Given the description of an element on the screen output the (x, y) to click on. 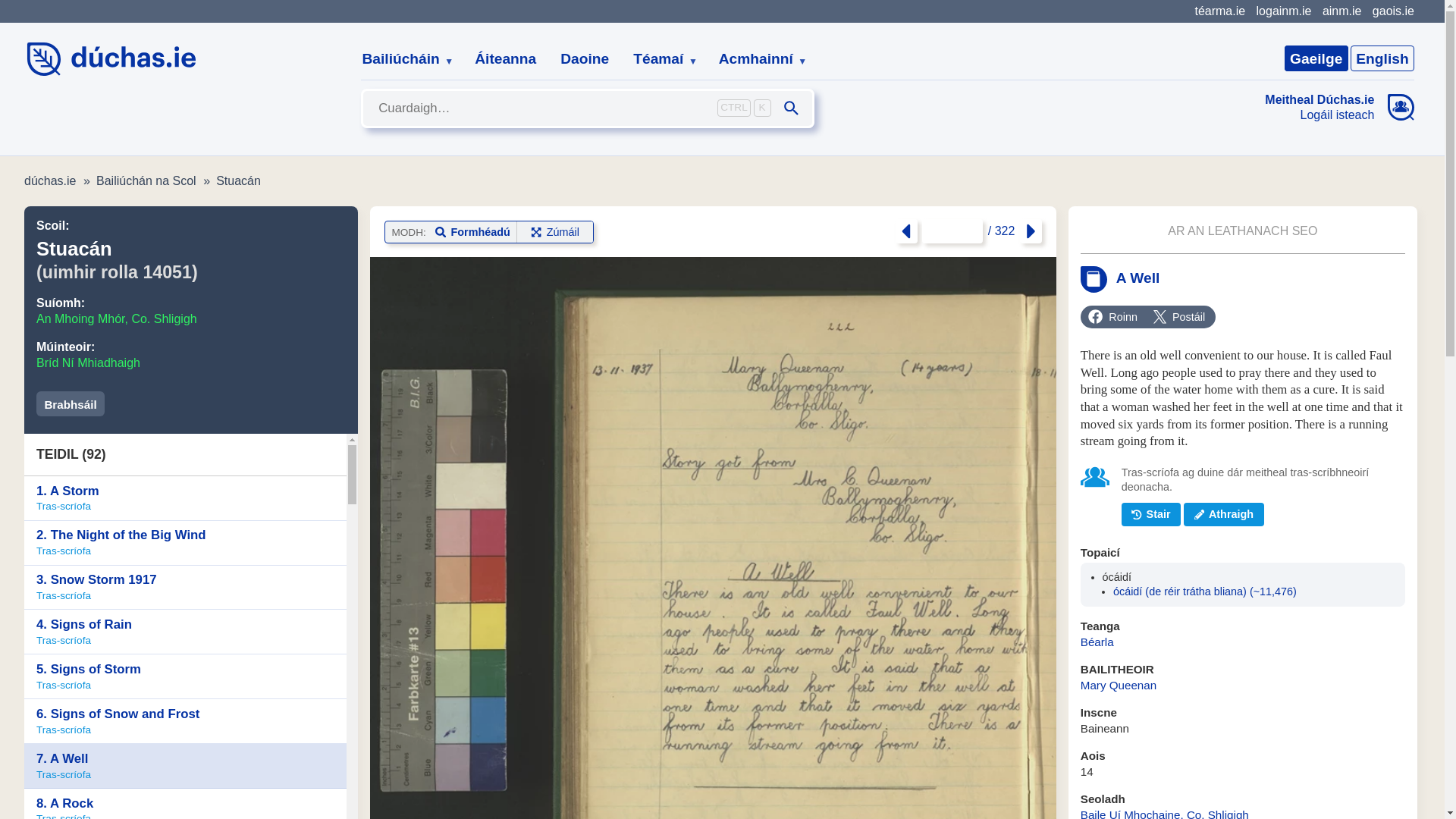
English (1382, 58)
logainm.ie (1283, 11)
ainm.ie (1341, 11)
Daoine (584, 58)
Gaeilge (1316, 58)
gaois.ie (1393, 11)
